Given the description of an element on the screen output the (x, y) to click on. 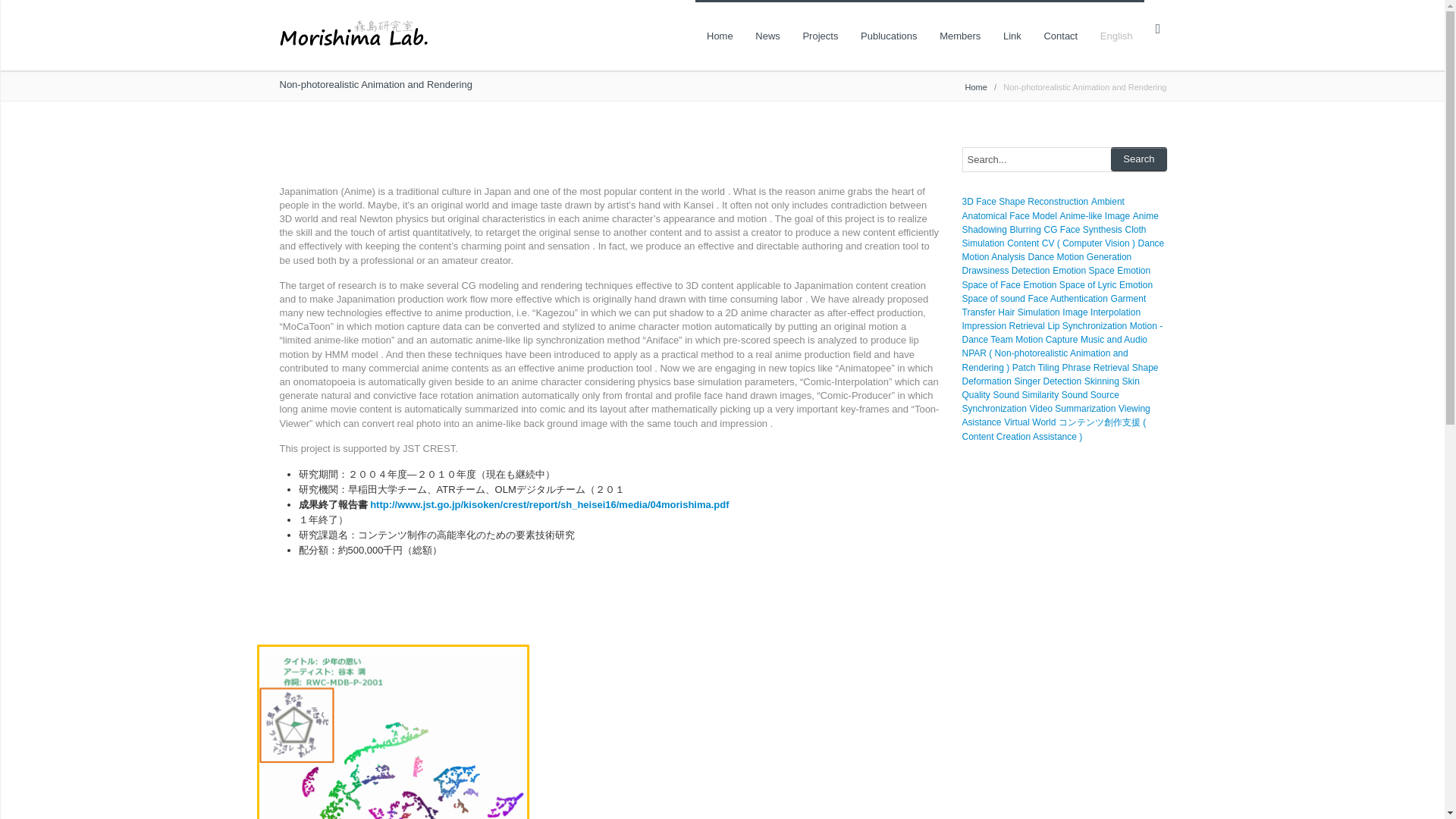
Home (975, 86)
Search... (1063, 159)
Search (1138, 159)
Publucations (888, 35)
Members (959, 35)
